Given the description of an element on the screen output the (x, y) to click on. 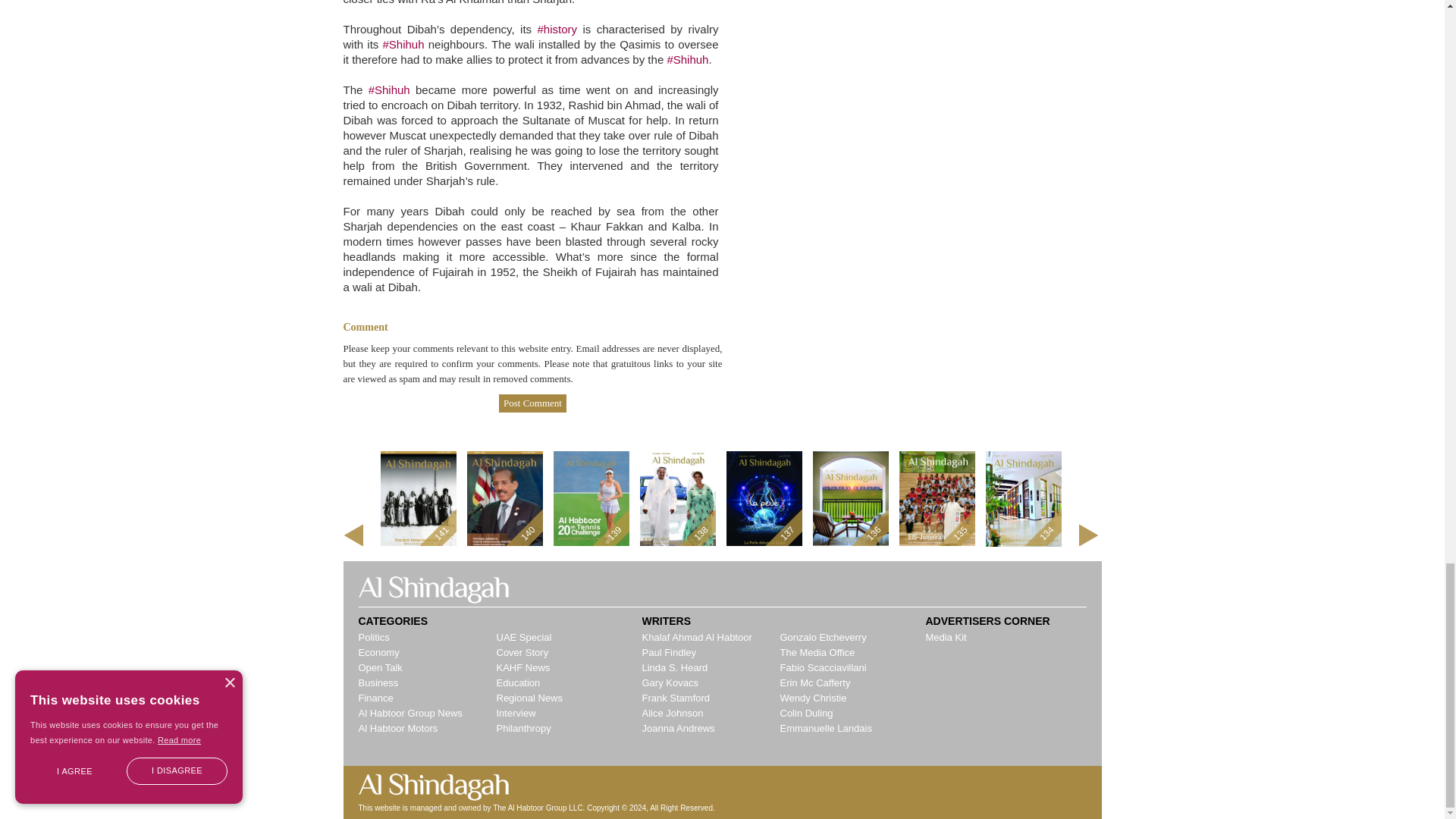
Seach website for:  Shihuh (389, 89)
Seach website for:  Shihuh (686, 59)
Seach website for:  history (557, 29)
Post Comment (532, 402)
Seach website for:  Shihuh (402, 43)
